Given the description of an element on the screen output the (x, y) to click on. 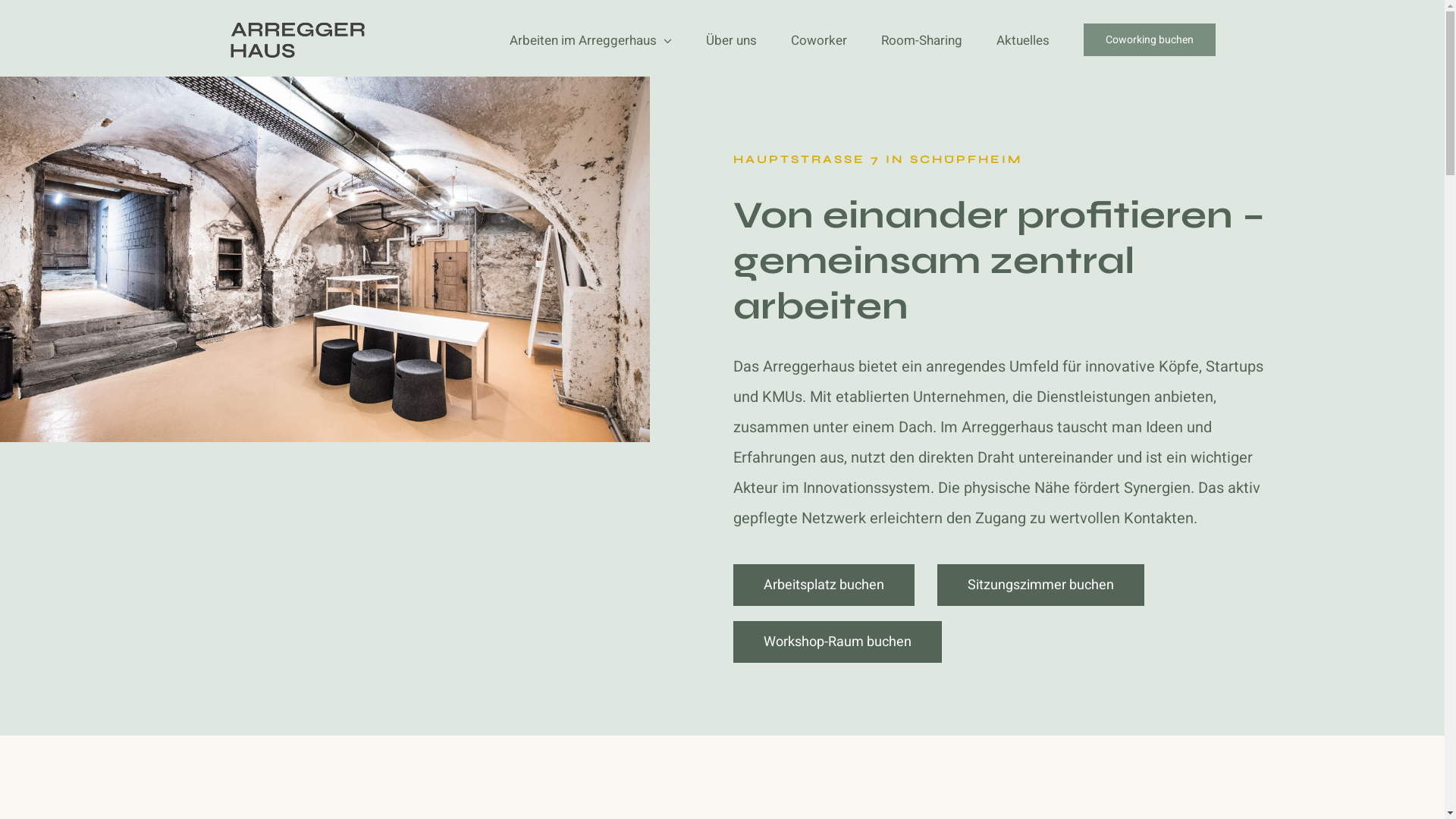
Room-Sharing Element type: text (921, 39)
Arbeiten im Arreggerhaus Element type: text (590, 39)
Arbeitsplatz buchen Element type: text (823, 584)
Aktuelles Element type: text (1022, 39)
Sitzungszimmer buchen Element type: text (1040, 584)
Workshop-Raum buchen Element type: text (837, 641)
Coworker Element type: text (818, 39)
Arreggerhaus-kaesekeller Element type: hover (324, 259)
Coworking buchen Element type: text (1148, 39)
